Given the description of an element on the screen output the (x, y) to click on. 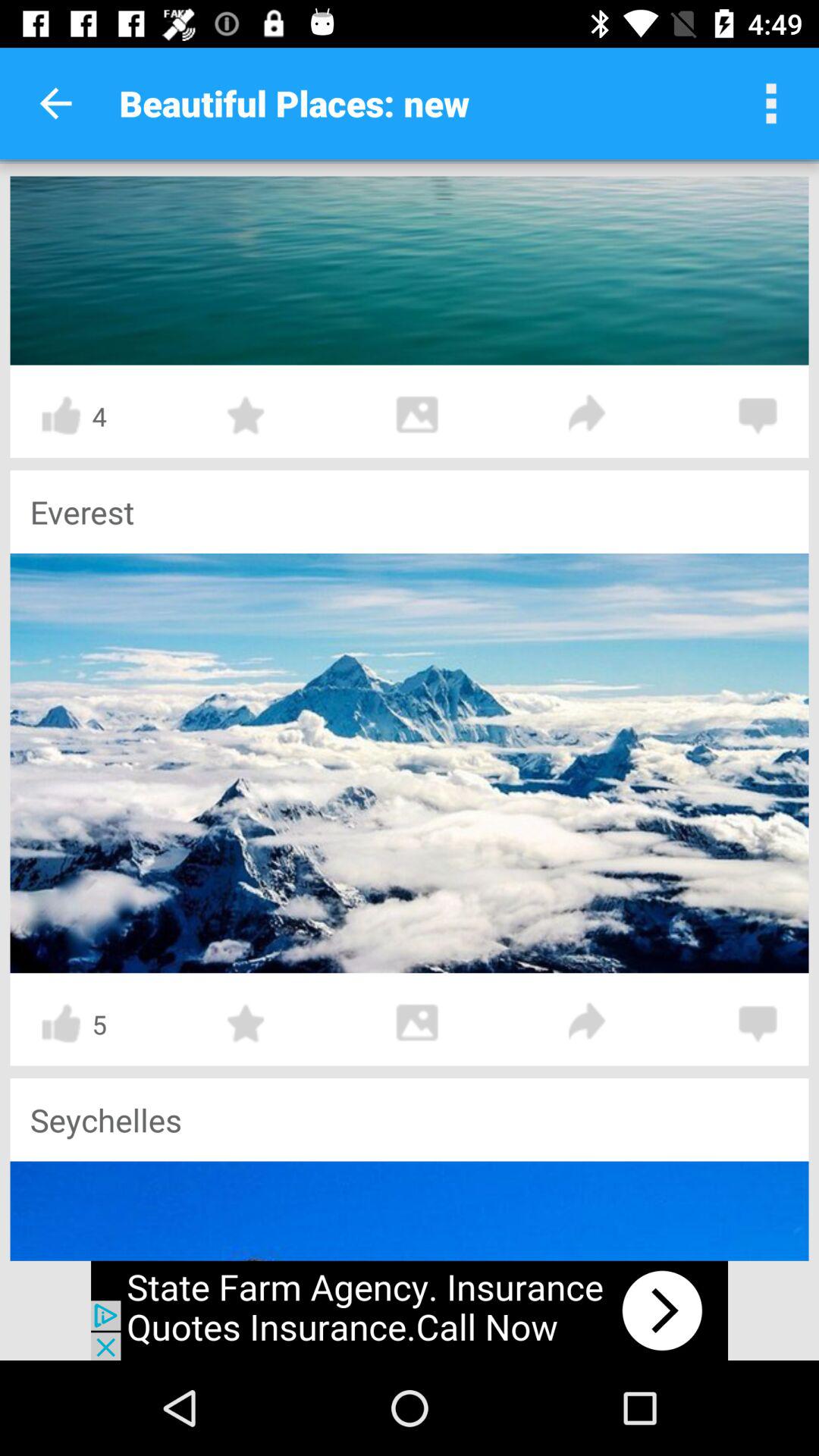
like symbol (61, 415)
